Given the description of an element on the screen output the (x, y) to click on. 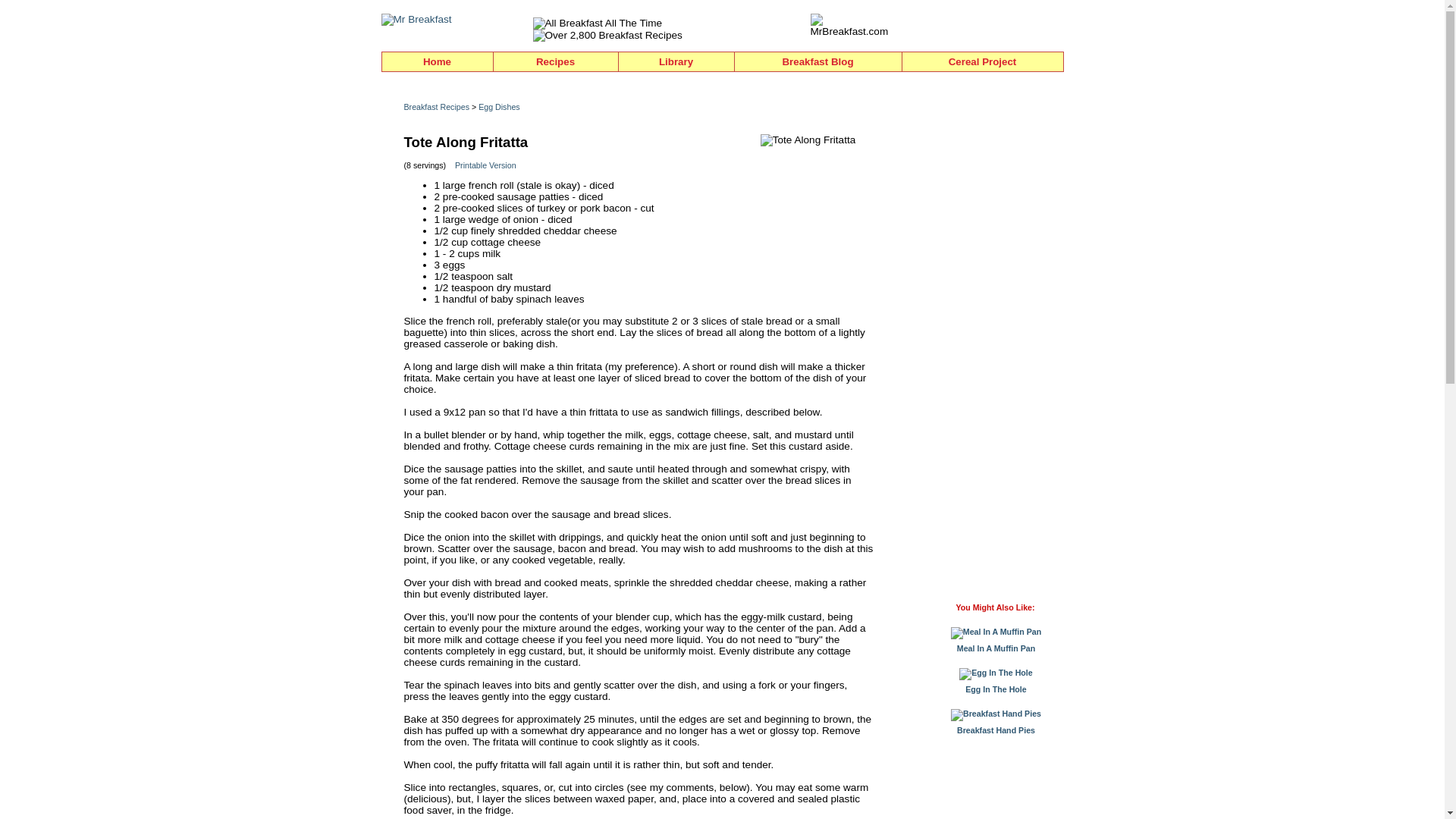
Home (437, 62)
Tote Along Fritatta (808, 140)
Cereal Project (983, 62)
Library (676, 62)
Recipes (555, 62)
Breakfast Blog (817, 62)
